Given the description of an element on the screen output the (x, y) to click on. 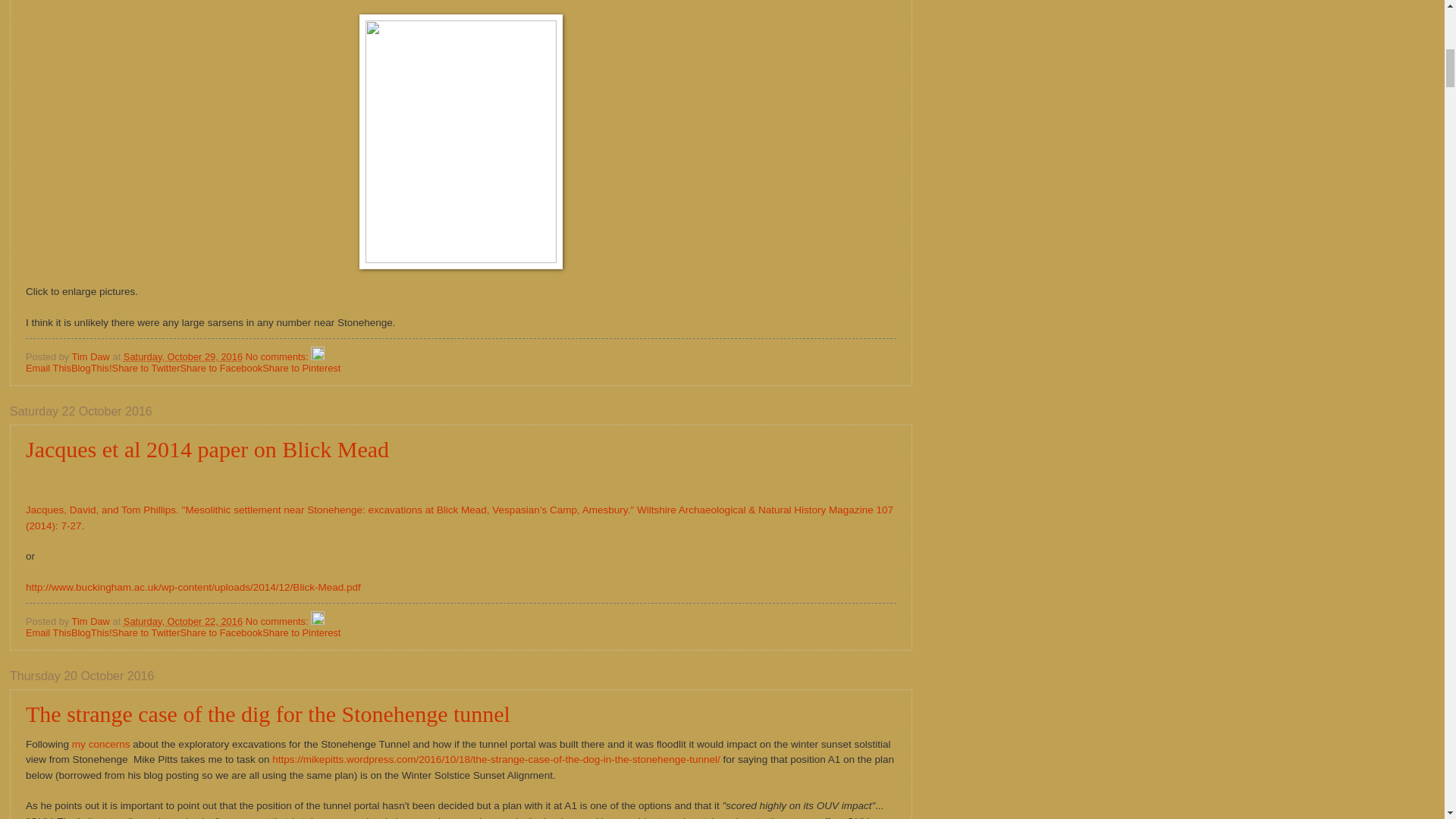
Share to Twitter (146, 632)
Jacques et al 2014 paper on Blick Mead (207, 448)
No comments: (278, 621)
Tim Daw (92, 356)
Email This (48, 367)
Share to Pinterest (301, 367)
Share to Twitter (146, 367)
The strange case of the dig for the Stonehenge tunnel (268, 713)
Share to Facebook (220, 367)
No comments: (278, 356)
Email This (48, 632)
Share to Facebook (220, 632)
Email This (48, 632)
BlogThis! (91, 367)
Edit Post (317, 621)
